Given the description of an element on the screen output the (x, y) to click on. 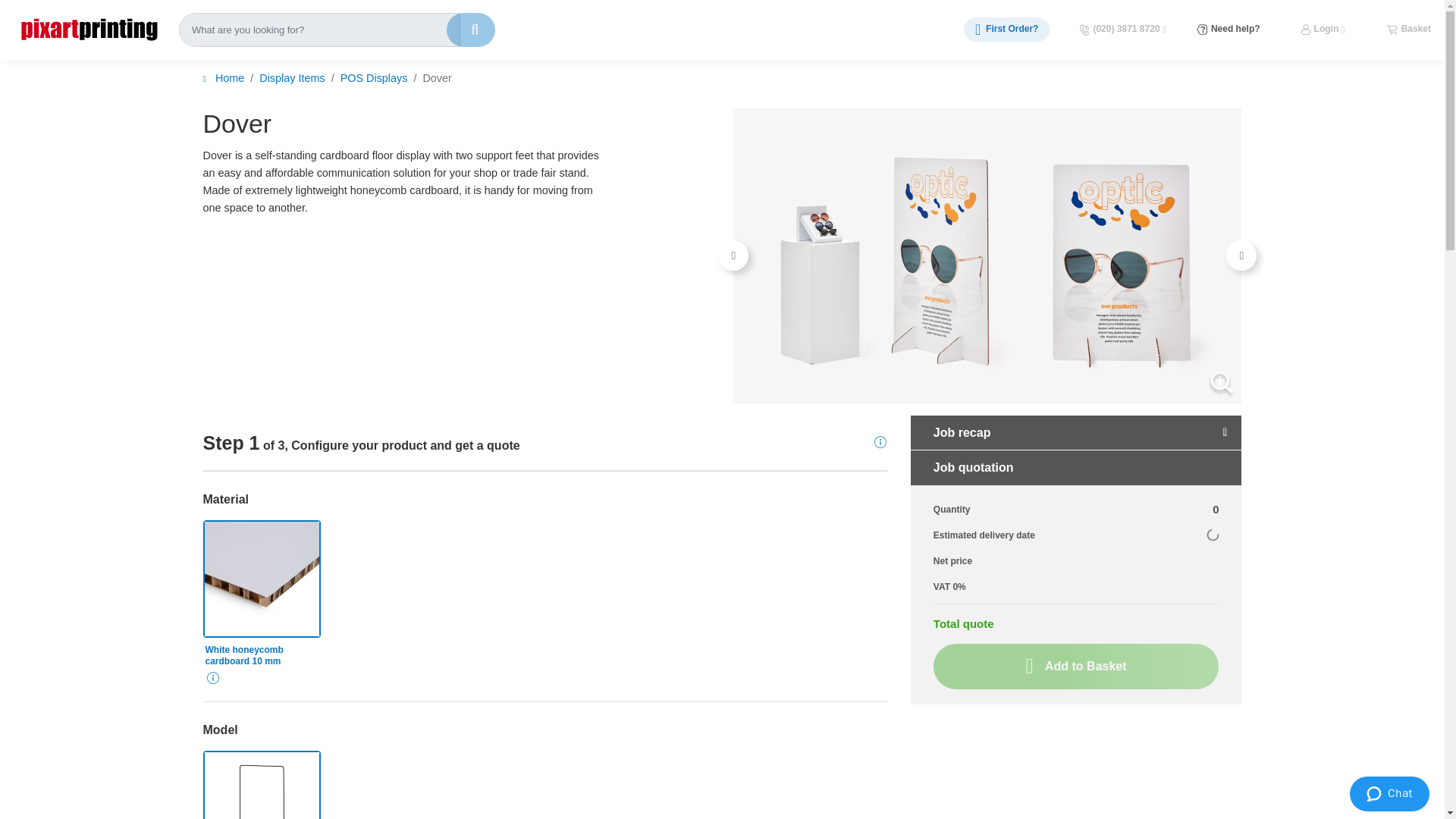
Need help? (1228, 29)
Basket (1408, 29)
Login (1322, 29)
  First Order? (1006, 29)
Pixartprinting Logo (89, 29)
